Given the description of an element on the screen output the (x, y) to click on. 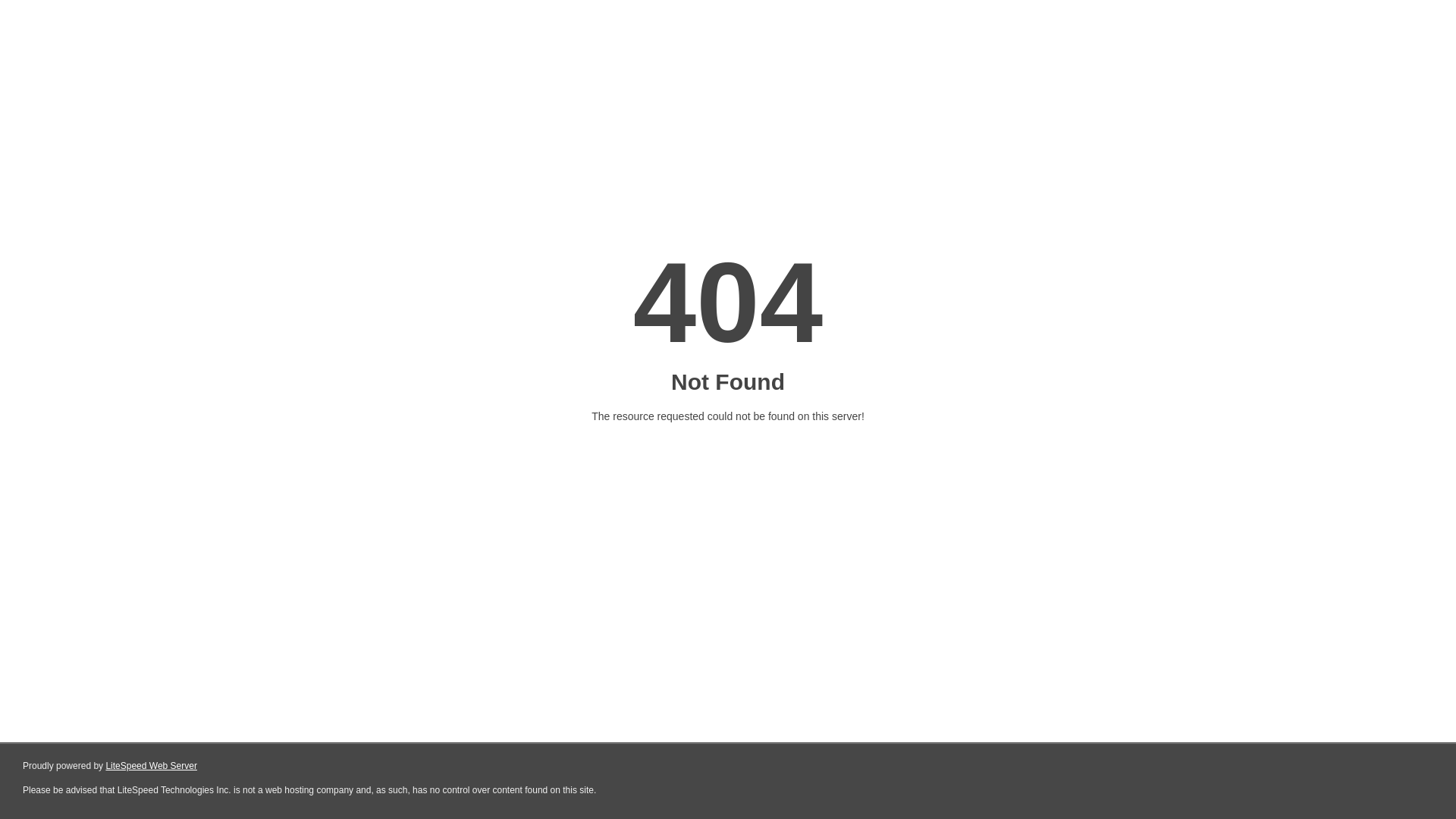
LiteSpeed Web Server Element type: text (151, 765)
